Given the description of an element on the screen output the (x, y) to click on. 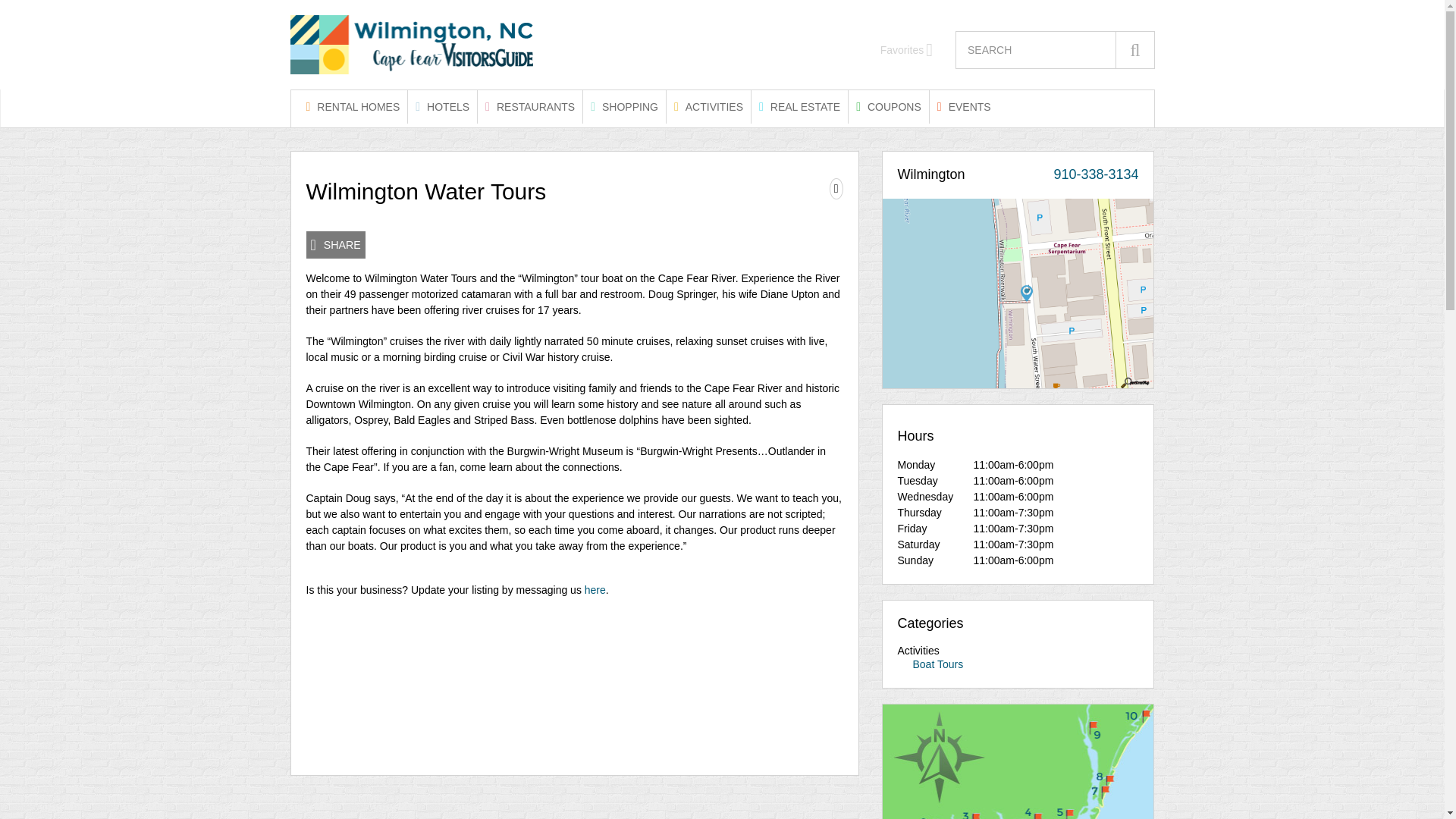
SHARE (335, 244)
here (595, 589)
RENTAL HOMES (352, 106)
COUPONS (888, 106)
ACTIVITIES (708, 106)
RESTAURANTS (529, 106)
EVENTS (964, 106)
Boat Tours (937, 664)
Advertisement (574, 680)
REAL ESTATE (799, 106)
SHOPPING (624, 106)
HOTELS (442, 106)
Favorites (906, 49)
910-338-3134 (1095, 174)
